Given the description of an element on the screen output the (x, y) to click on. 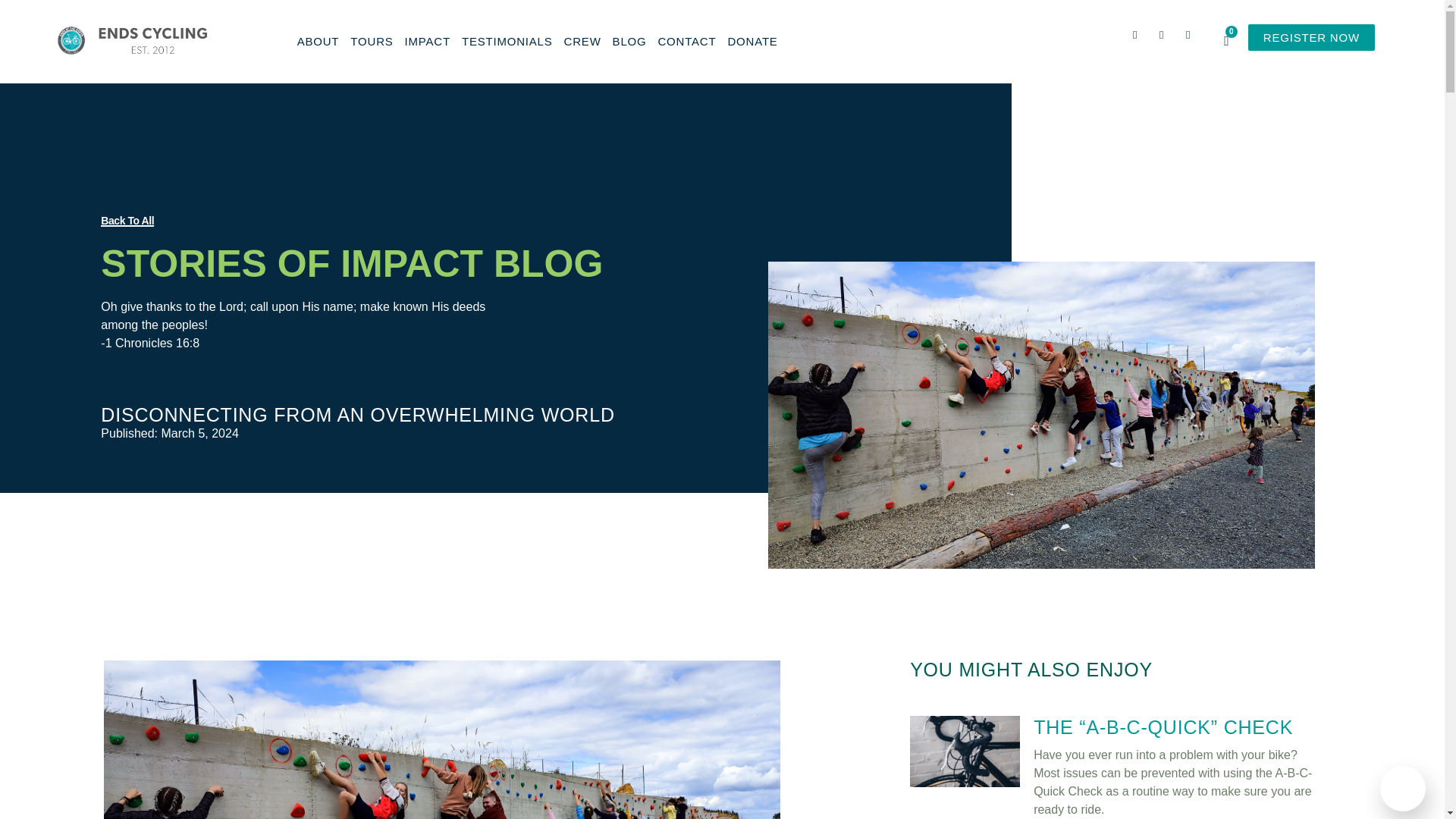
DONATE (751, 41)
CONTACT (687, 41)
BLOG (629, 41)
ABOUT (318, 41)
IMPACT (426, 41)
TESTIMONIALS (507, 41)
REGISTER NOW (1310, 37)
0 (1226, 40)
CREW (582, 41)
TOURS (371, 41)
